Given the description of an element on the screen output the (x, y) to click on. 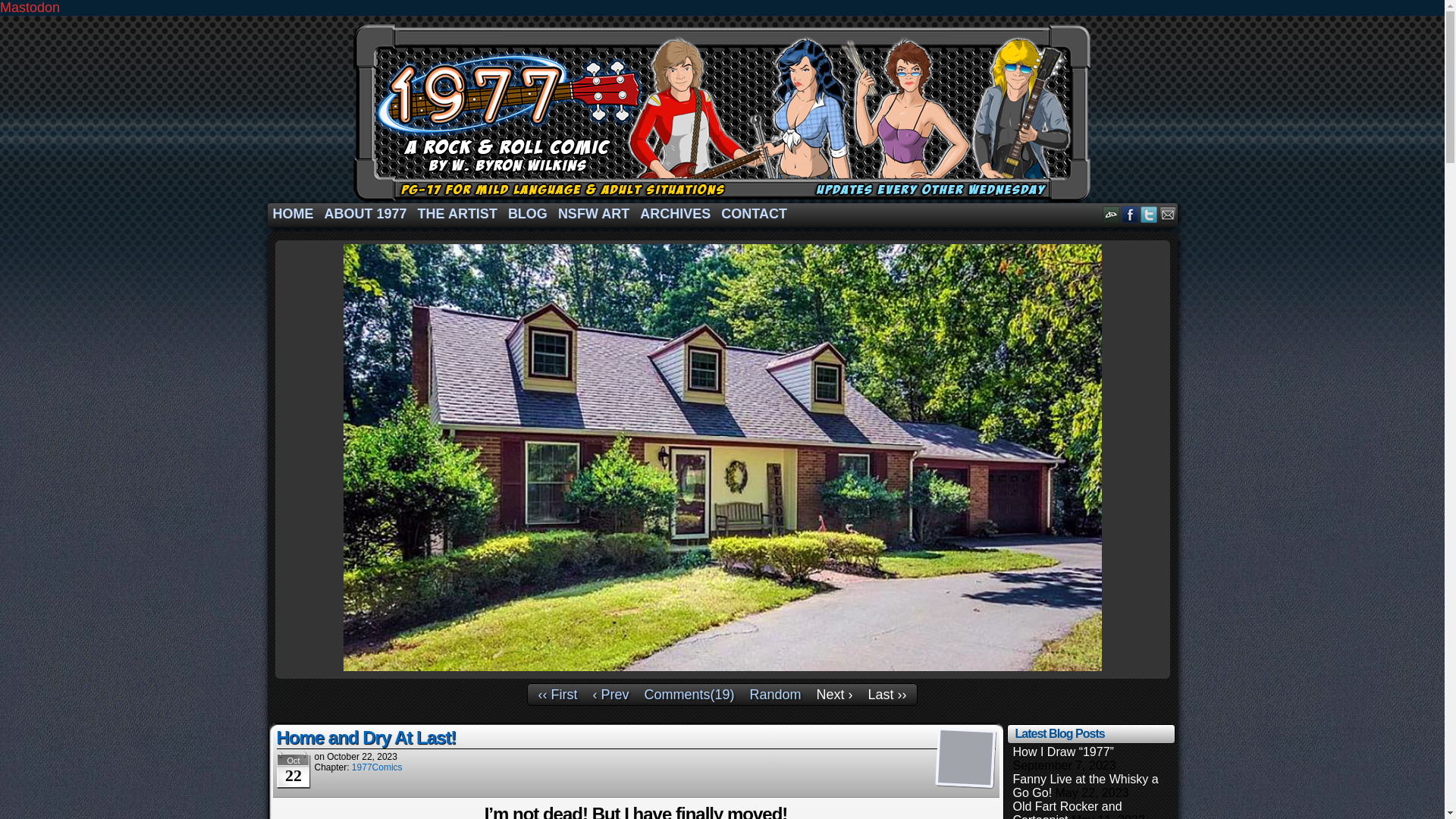
Comments(19) Element type: text (688, 694)
NSFW ART Element type: text (593, 213)
HOME Element type: text (292, 213)
ABOUT 1977 Element type: text (364, 213)
BLOG Element type: text (527, 213)
ARCHIVES Element type: text (674, 213)
EMAIL Element type: text (1167, 213)
Random Element type: text (774, 694)
CONTACT Element type: text (753, 213)
1977Comics Element type: text (376, 767)
Mastodon Element type: text (29, 7)
TWITTER Element type: text (1148, 213)
Home and Dry At Last! Element type: hover (721, 457)
THE ARTIST Element type: text (457, 213)
FACEBOOK Element type: text (1129, 213)
Home and Dry At Last! Element type: text (365, 738)
Fanny Live at the Whisky a Go Go! Element type: text (1085, 785)
DEVIANTART Element type: text (1110, 213)
